Given the description of an element on the screen output the (x, y) to click on. 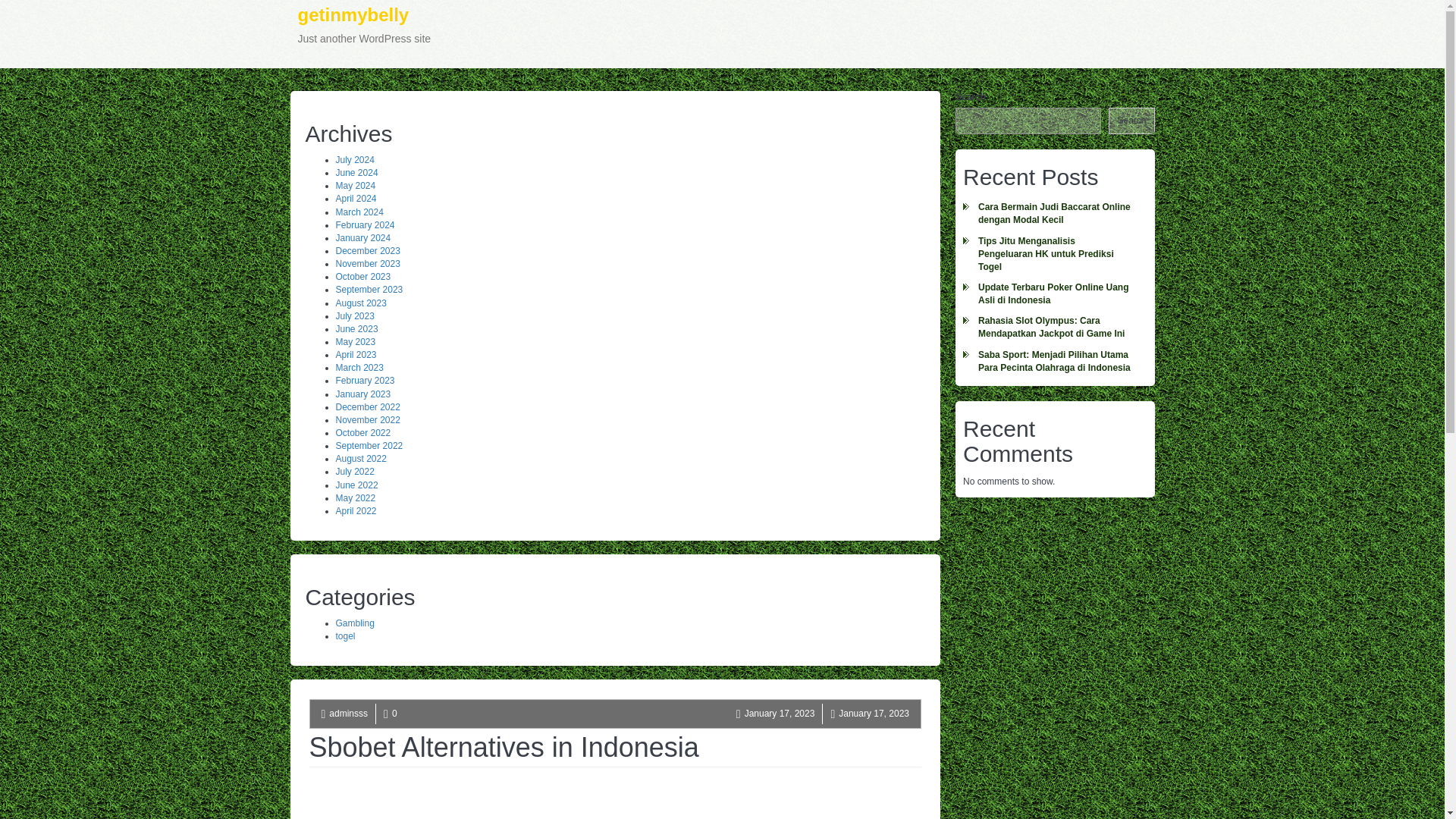
September 2022 (368, 445)
February 2024 (364, 225)
March 2024 (363, 33)
Gambling (358, 212)
April 2024 (354, 623)
adminsss (354, 198)
November 2022 (348, 713)
June 2024 (366, 419)
Tips Jitu Menganalisis Pengeluaran HK untuk Prediksi Togel (355, 172)
Cara Bermain Judi Baccarat Online dengan Modal Kecil (1054, 253)
July 2024 (1054, 213)
May 2024 (354, 159)
Update Terbaru Poker Online Uang Asli di Indonesia (354, 185)
July 2023 (1054, 294)
